Given the description of an element on the screen output the (x, y) to click on. 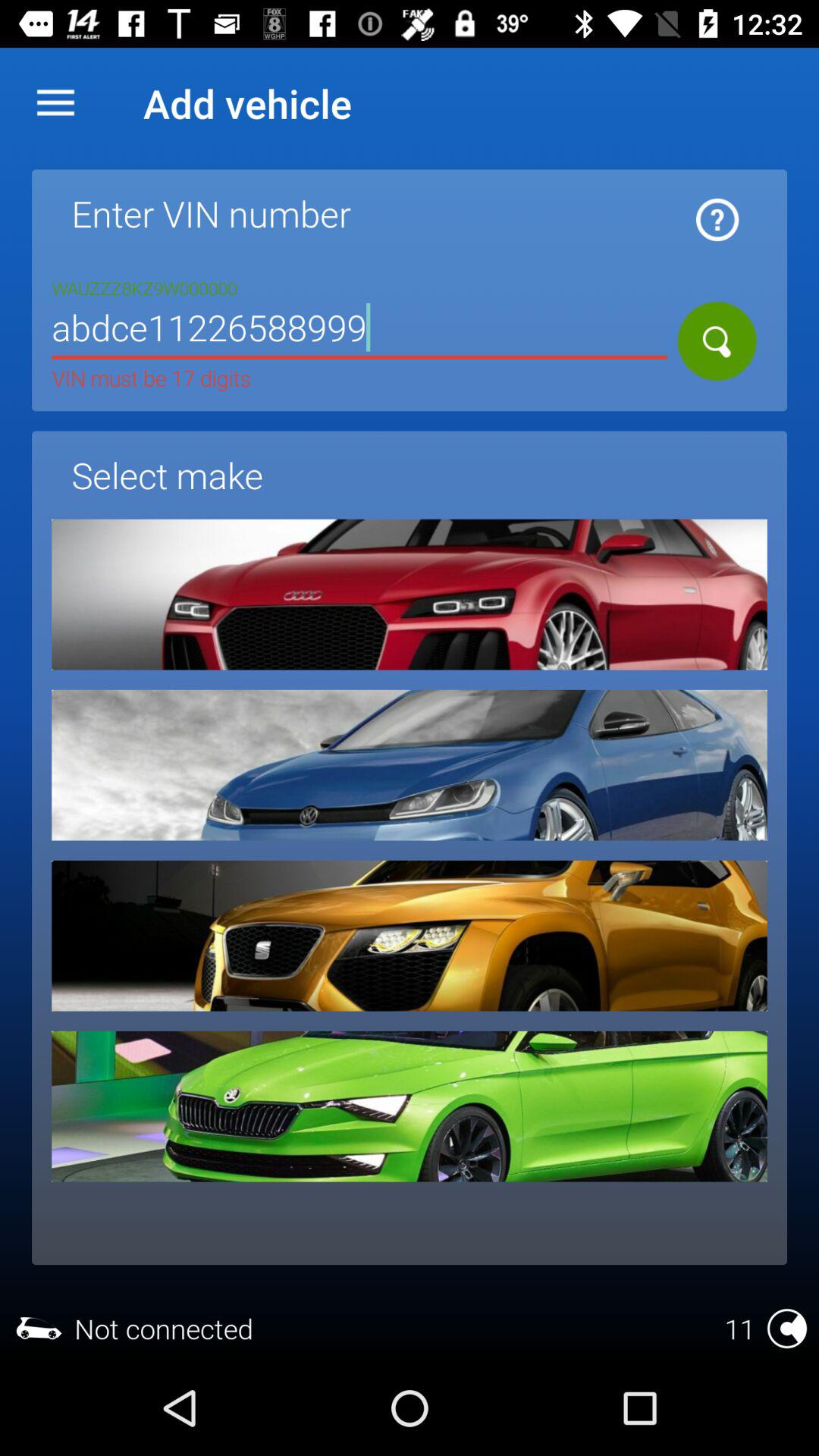
select volkswagen (409, 764)
